Given the description of an element on the screen output the (x, y) to click on. 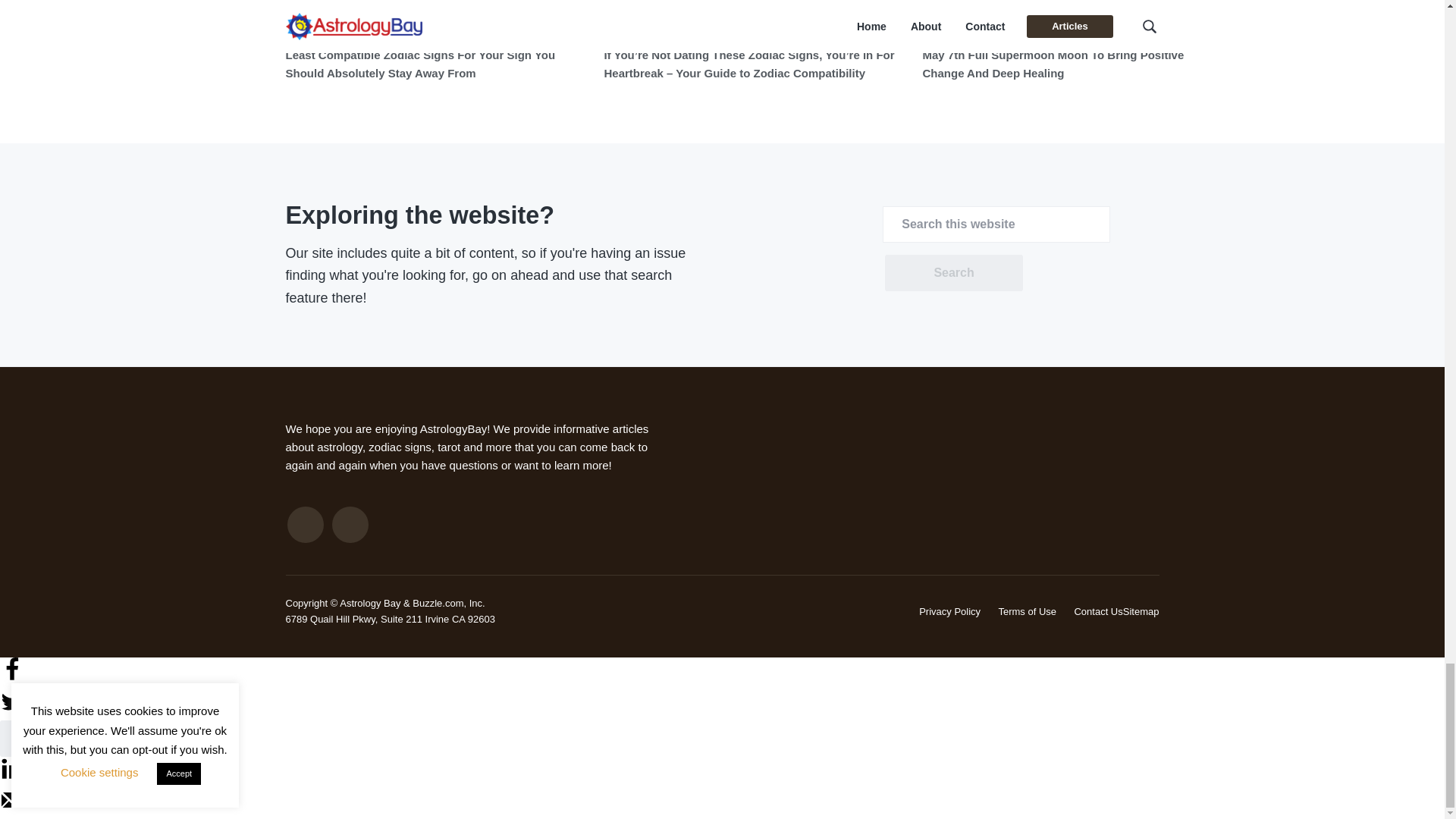
Search (953, 272)
Search (953, 272)
